Given the description of an element on the screen output the (x, y) to click on. 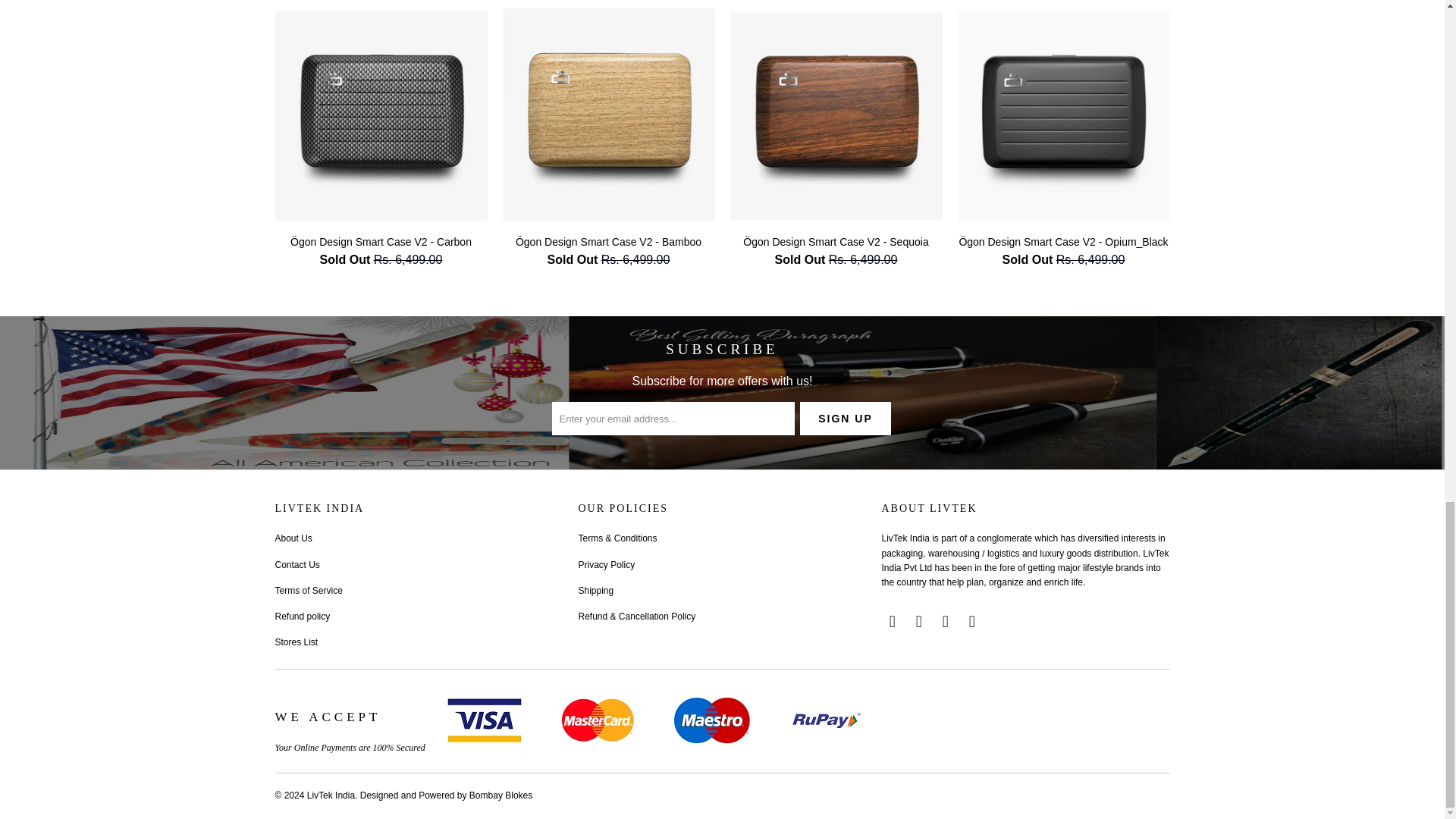
Sign Up (845, 418)
LIVTEK INDIA PVT LTD on Facebook (892, 621)
